Given the description of an element on the screen output the (x, y) to click on. 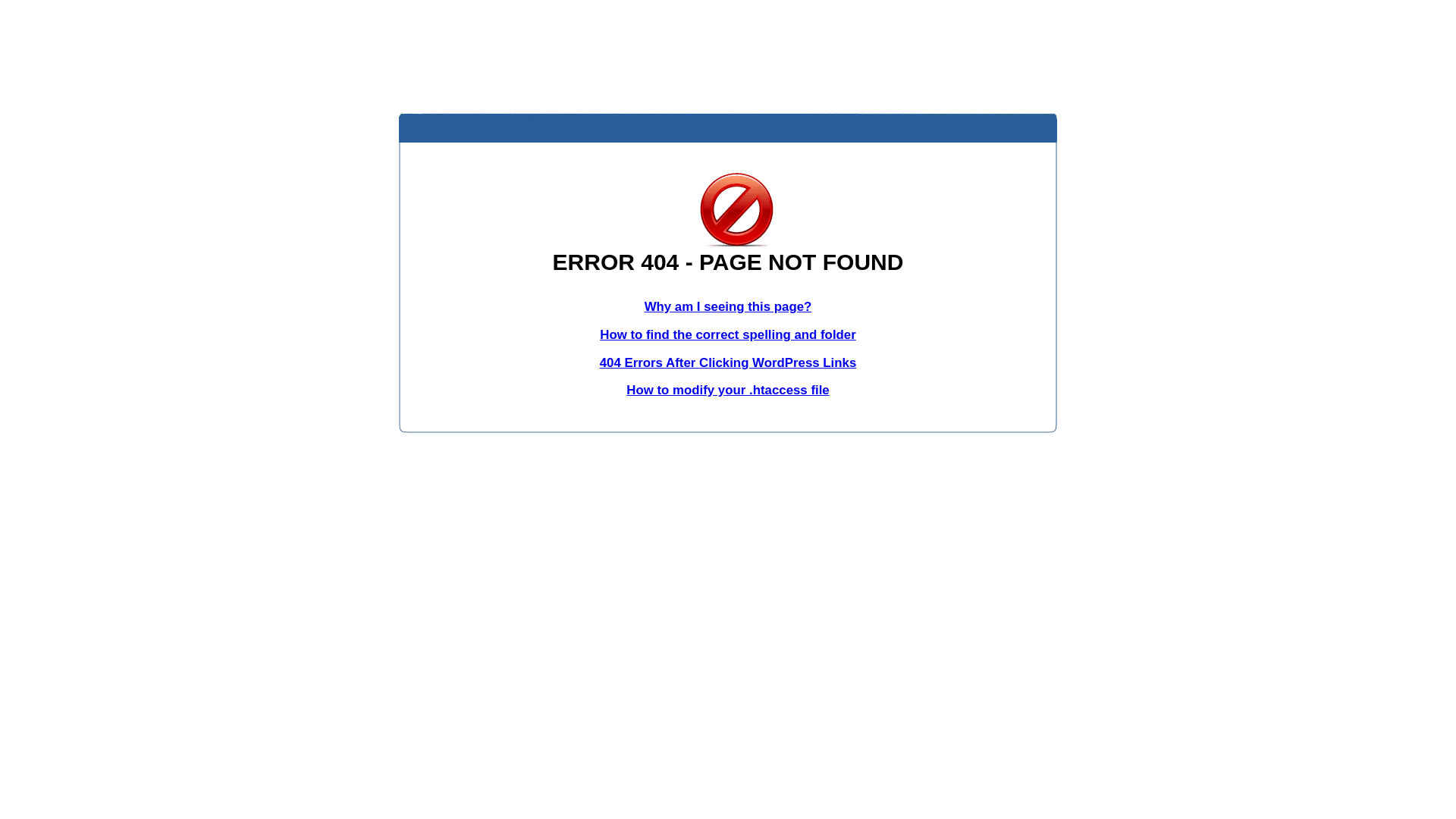
404 Errors After Clicking WordPress Links Element type: text (727, 362)
How to modify your .htaccess file Element type: text (727, 389)
Why am I seeing this page? Element type: text (728, 306)
How to find the correct spelling and folder Element type: text (727, 334)
